Given the description of an element on the screen output the (x, y) to click on. 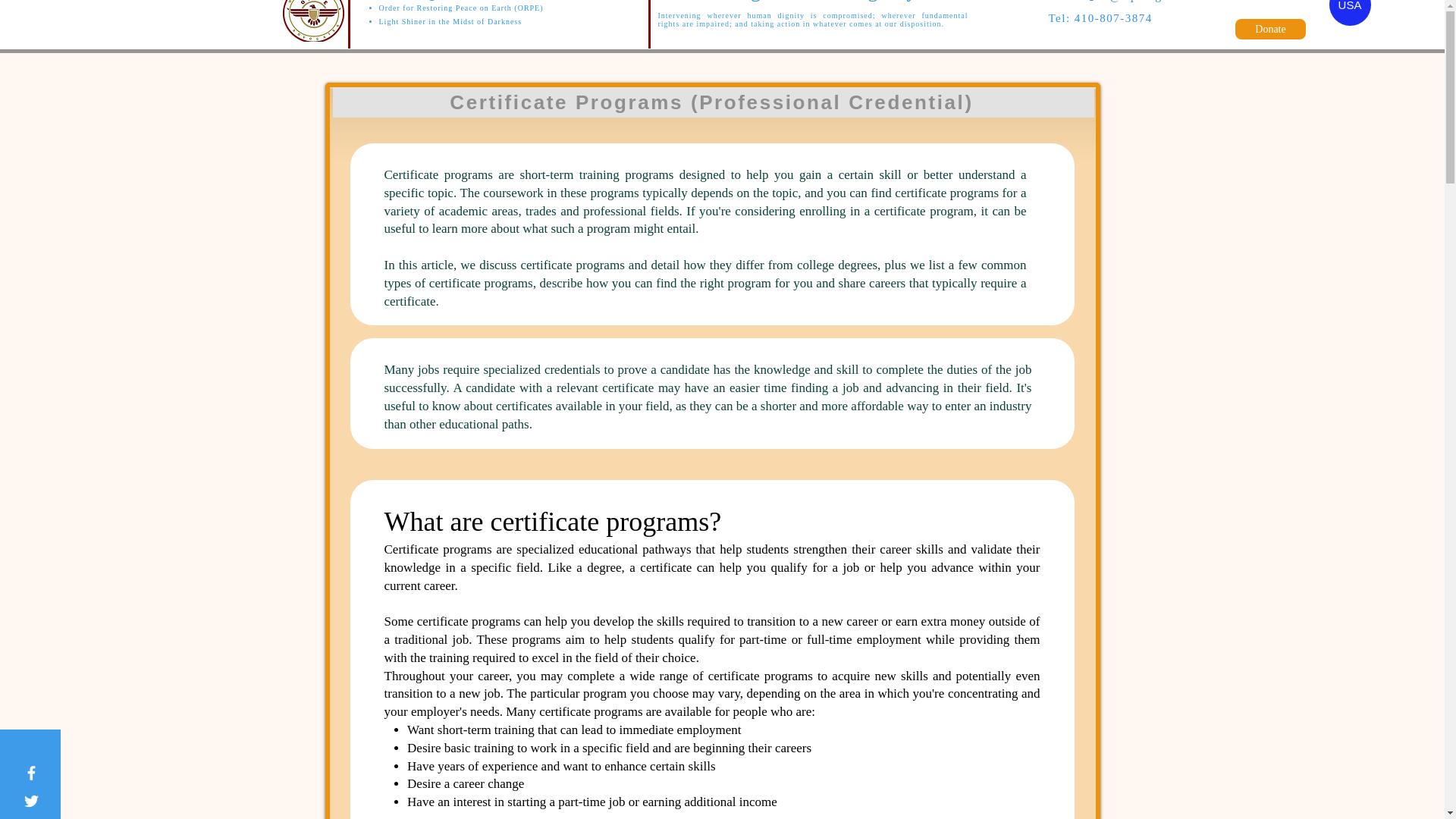
Donate (1270, 28)
